Given the description of an element on the screen output the (x, y) to click on. 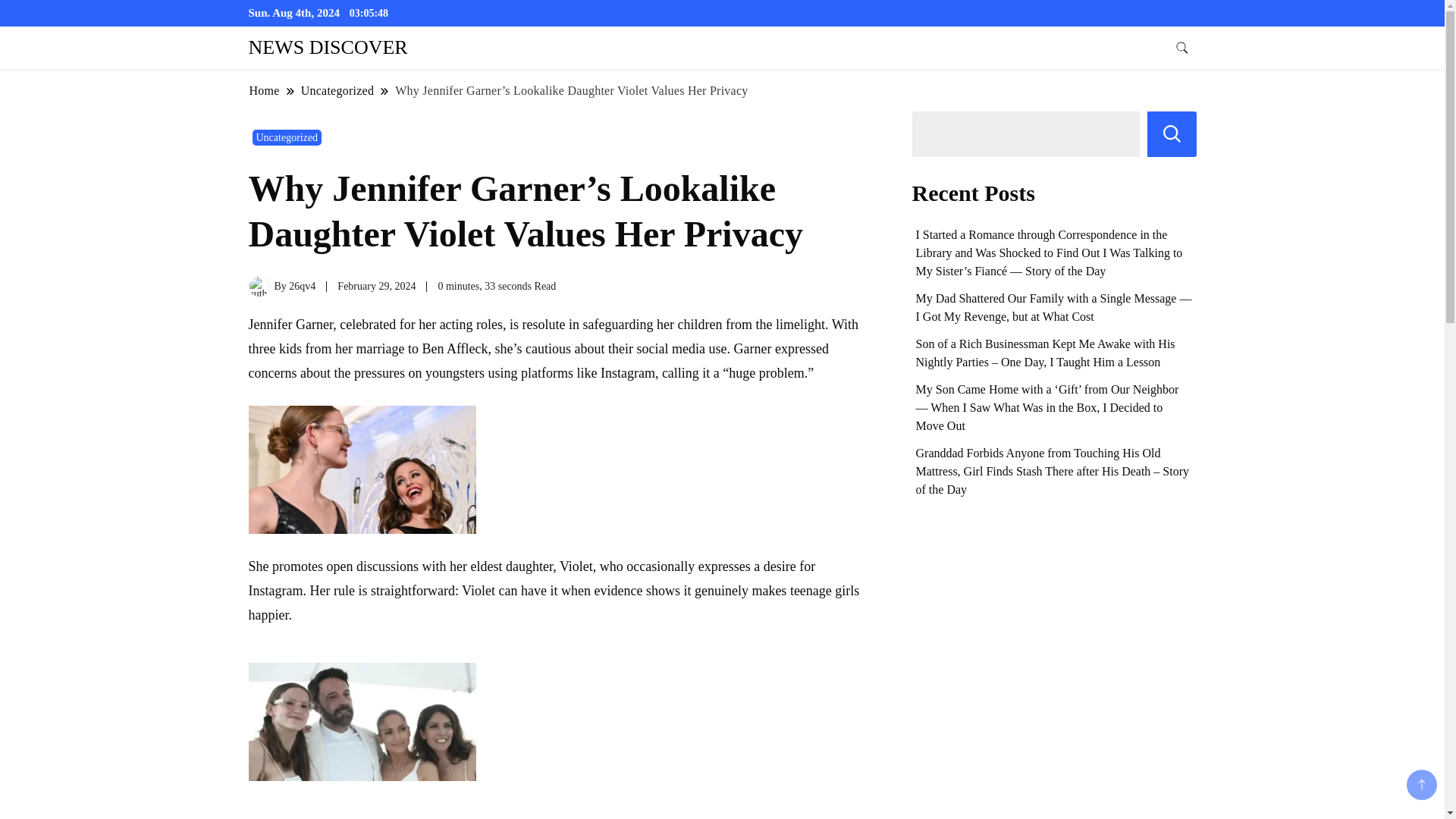
February 29, 2024 (375, 285)
Advertisement (560, 810)
Search (1171, 134)
NEWS DISCOVER (327, 47)
26qv4 (301, 285)
Home (264, 90)
Uncategorized (286, 137)
Uncategorized (337, 90)
